Given the description of an element on the screen output the (x, y) to click on. 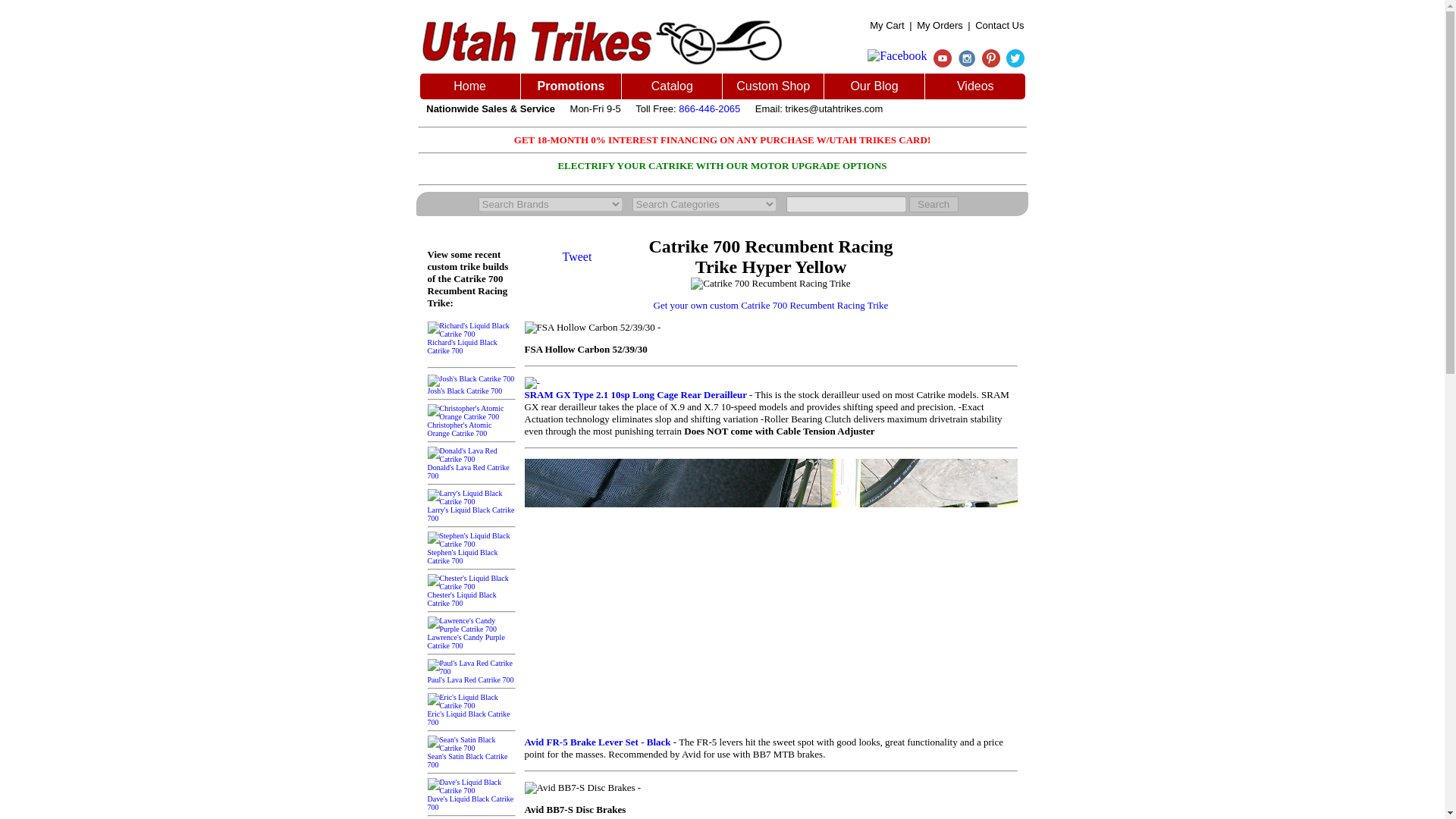
Our Blog (874, 85)
ELECTRIFY YOUR CATRIKE WITH OUR MOTOR UPGRADE OPTIONS (721, 164)
Stephen's Liquid Black Catrike 700 (471, 552)
866-446-2065 (708, 108)
Promotions (571, 85)
Sean's Satin Black Catrike 700 (471, 756)
Custom Shop (772, 85)
Chester's Liquid Black Catrike 700 (471, 594)
Lawrence's Candy Purple Catrike 700 (471, 637)
Contact Us (999, 25)
